Given the description of an element on the screen output the (x, y) to click on. 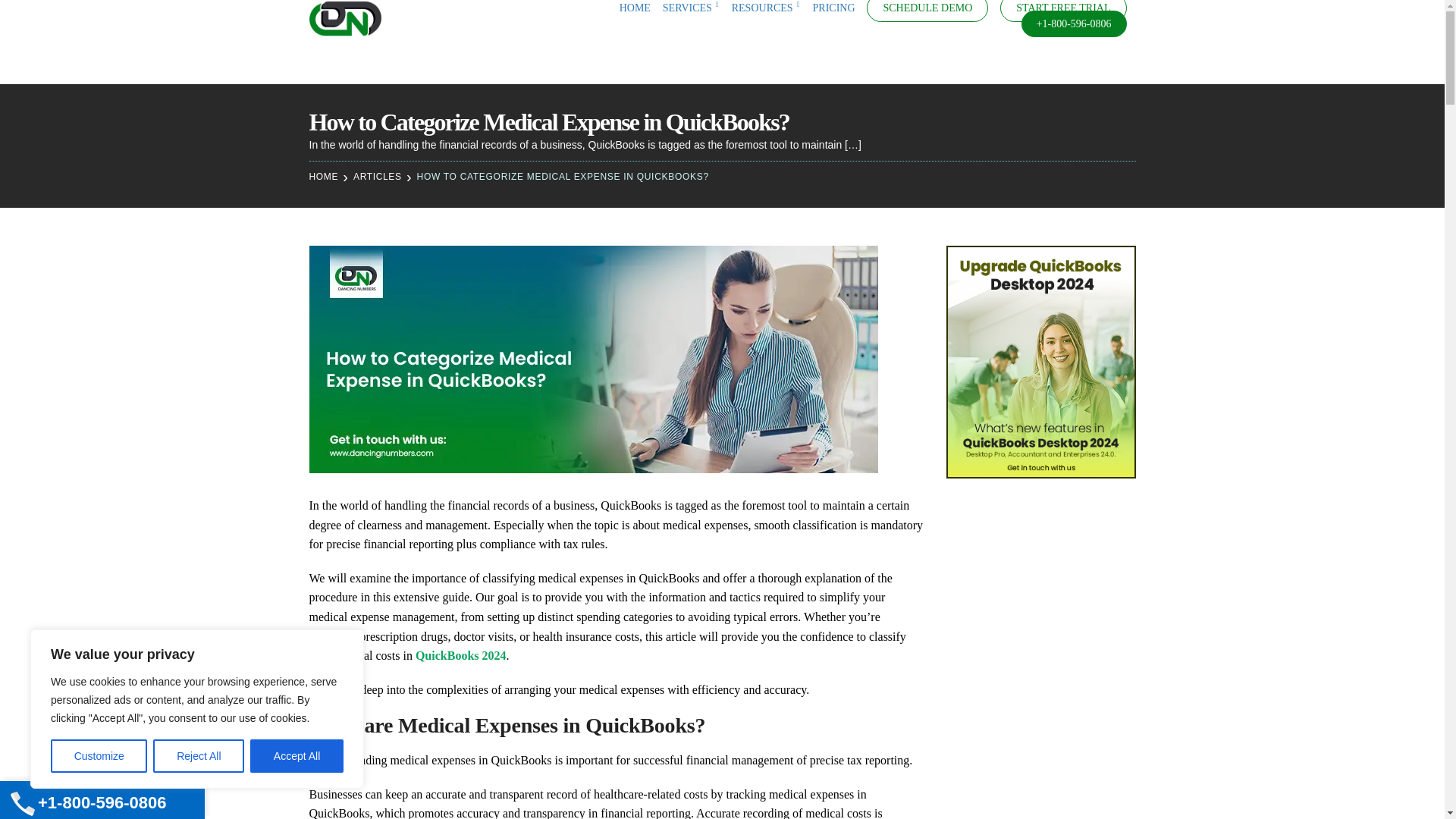
SERVICES (690, 8)
Accept All (296, 756)
HOME (635, 8)
START FREE TRIAL (1062, 8)
RESOURCES (766, 8)
Reject All (198, 756)
PRICING (834, 8)
SCHEDULE DEMO (927, 8)
Customize (98, 756)
Search (18, 18)
